Given the description of an element on the screen output the (x, y) to click on. 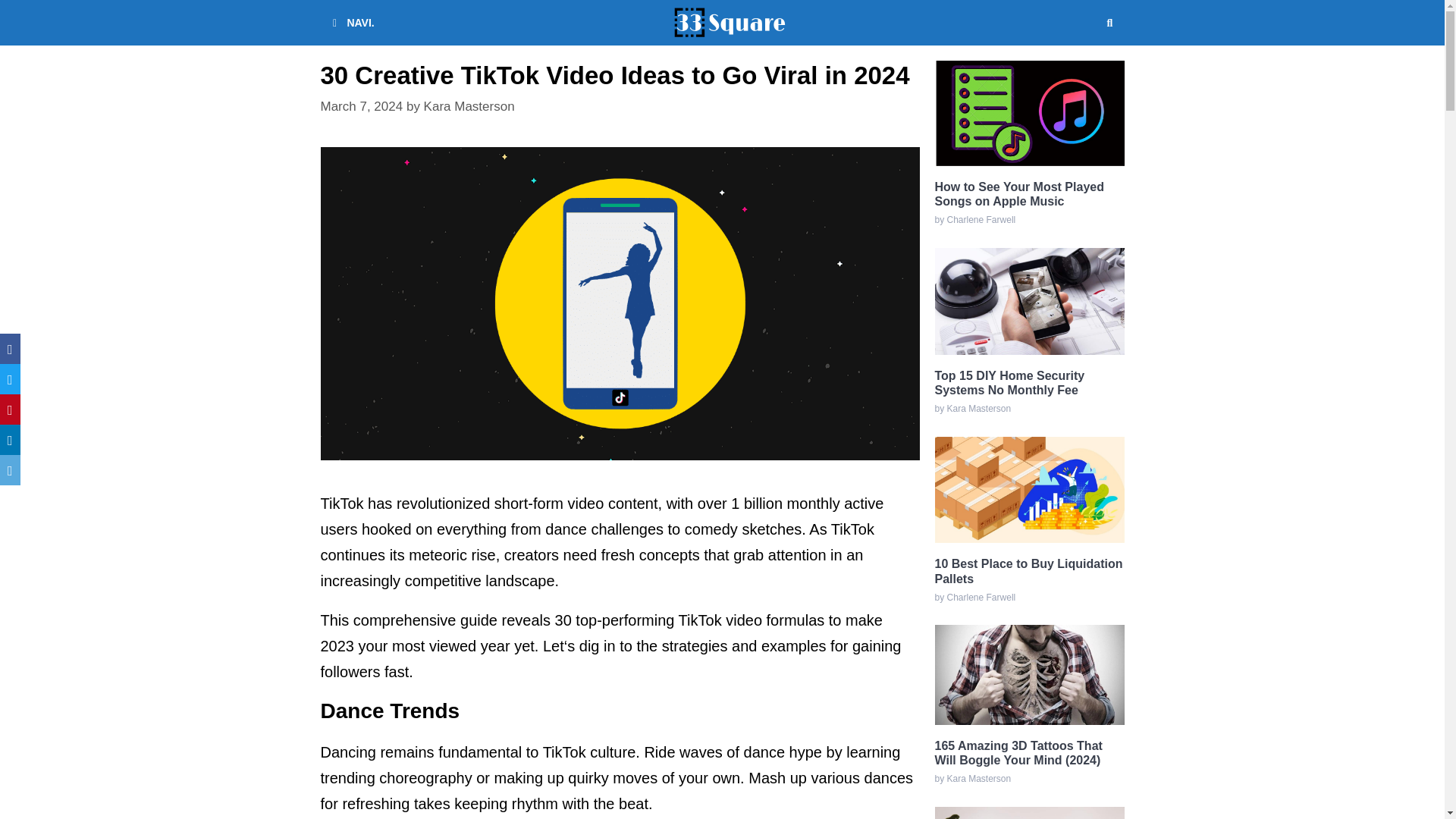
NAVI. (350, 22)
View all posts by Kara Masterson (469, 106)
33rd Square (729, 22)
